Given the description of an element on the screen output the (x, y) to click on. 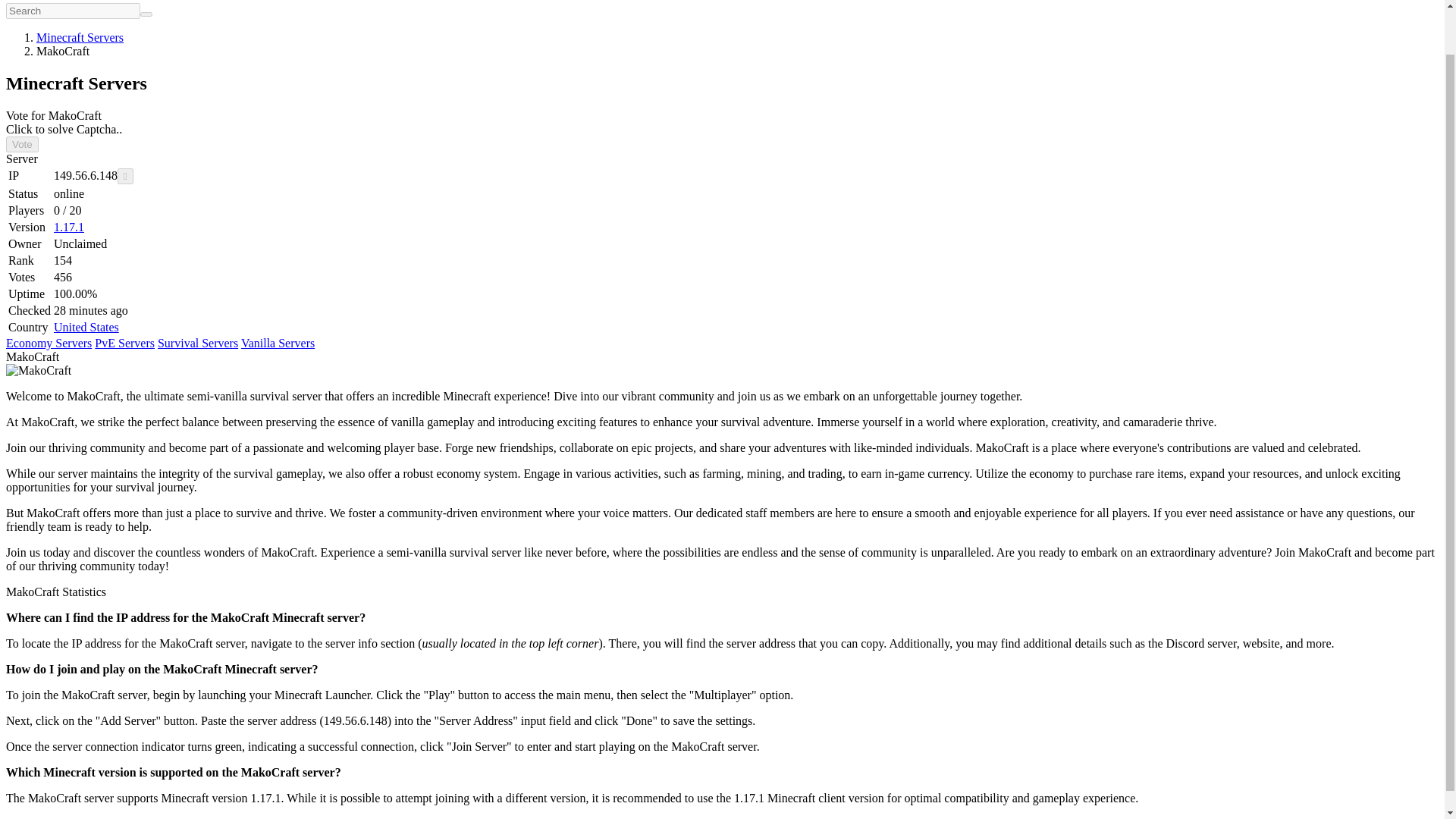
Vanilla Servers (277, 342)
Vote (22, 144)
Minecraft Servers (79, 37)
Copy 149.56.6.148 (125, 176)
1.17.1 (68, 226)
Search (145, 14)
PvE Servers (124, 342)
Economy Servers (48, 342)
Vote (22, 144)
United States (86, 327)
Survival Servers (197, 342)
